Given the description of an element on the screen output the (x, y) to click on. 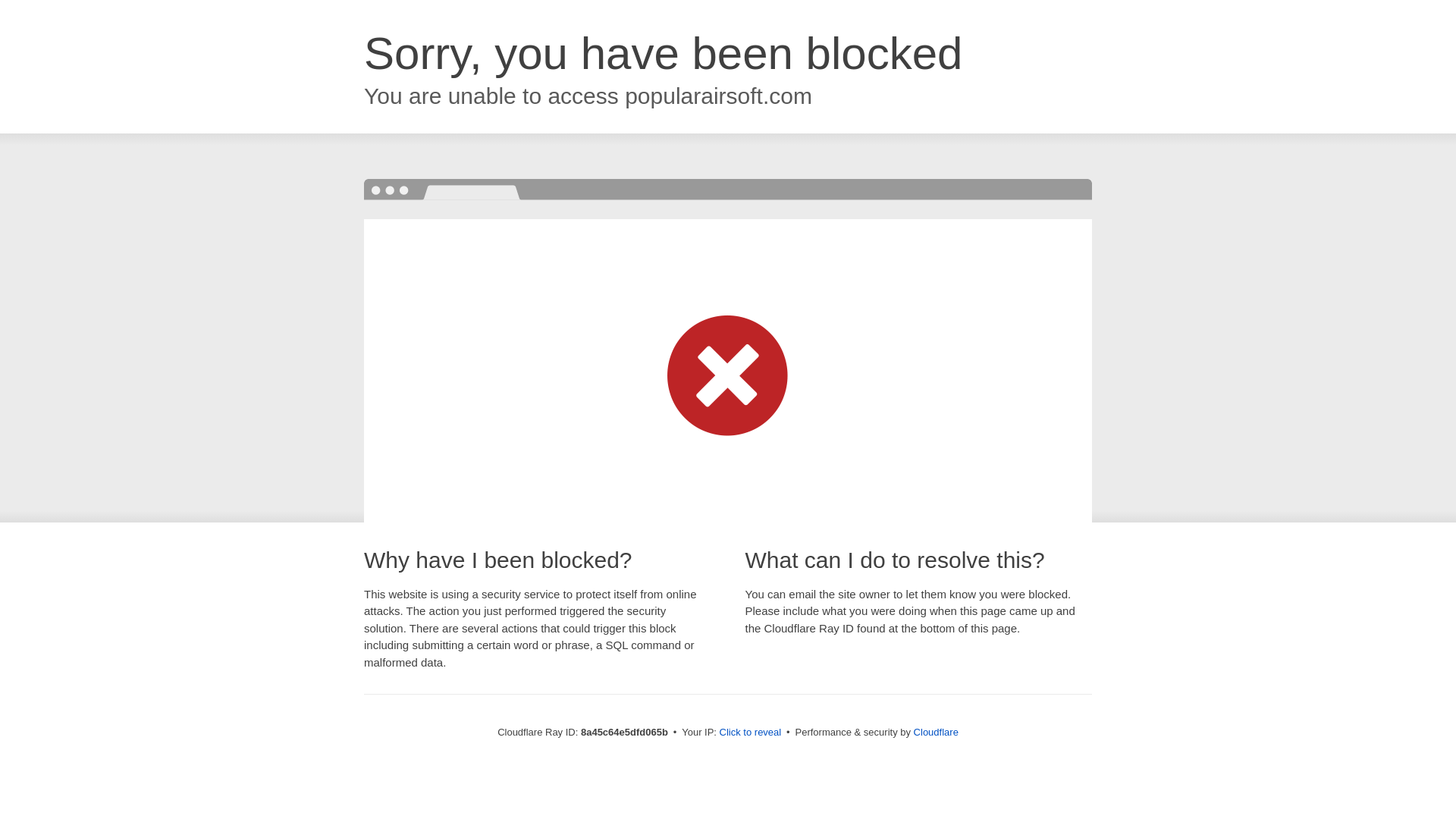
Click to reveal (750, 732)
Cloudflare (936, 731)
